Given the description of an element on the screen output the (x, y) to click on. 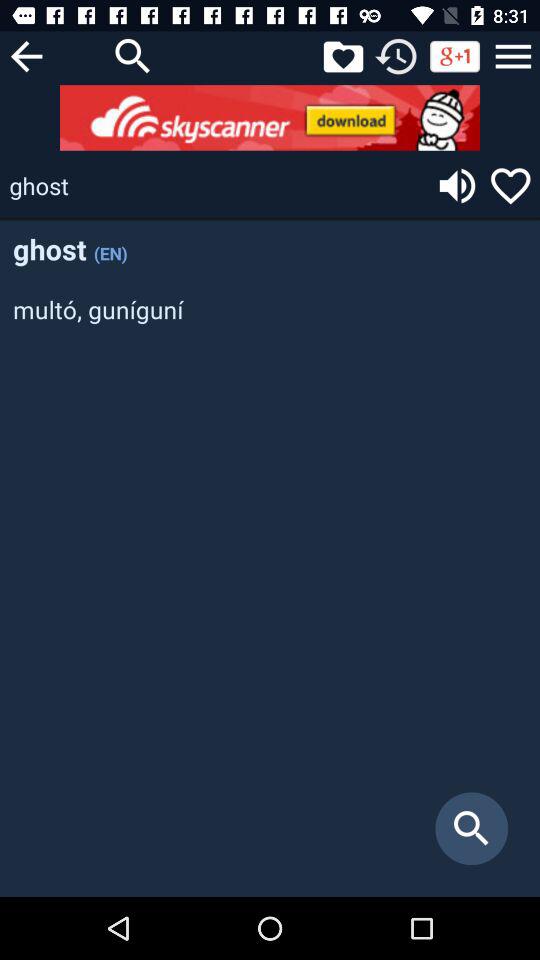
play pronunciation (457, 185)
